Given the description of an element on the screen output the (x, y) to click on. 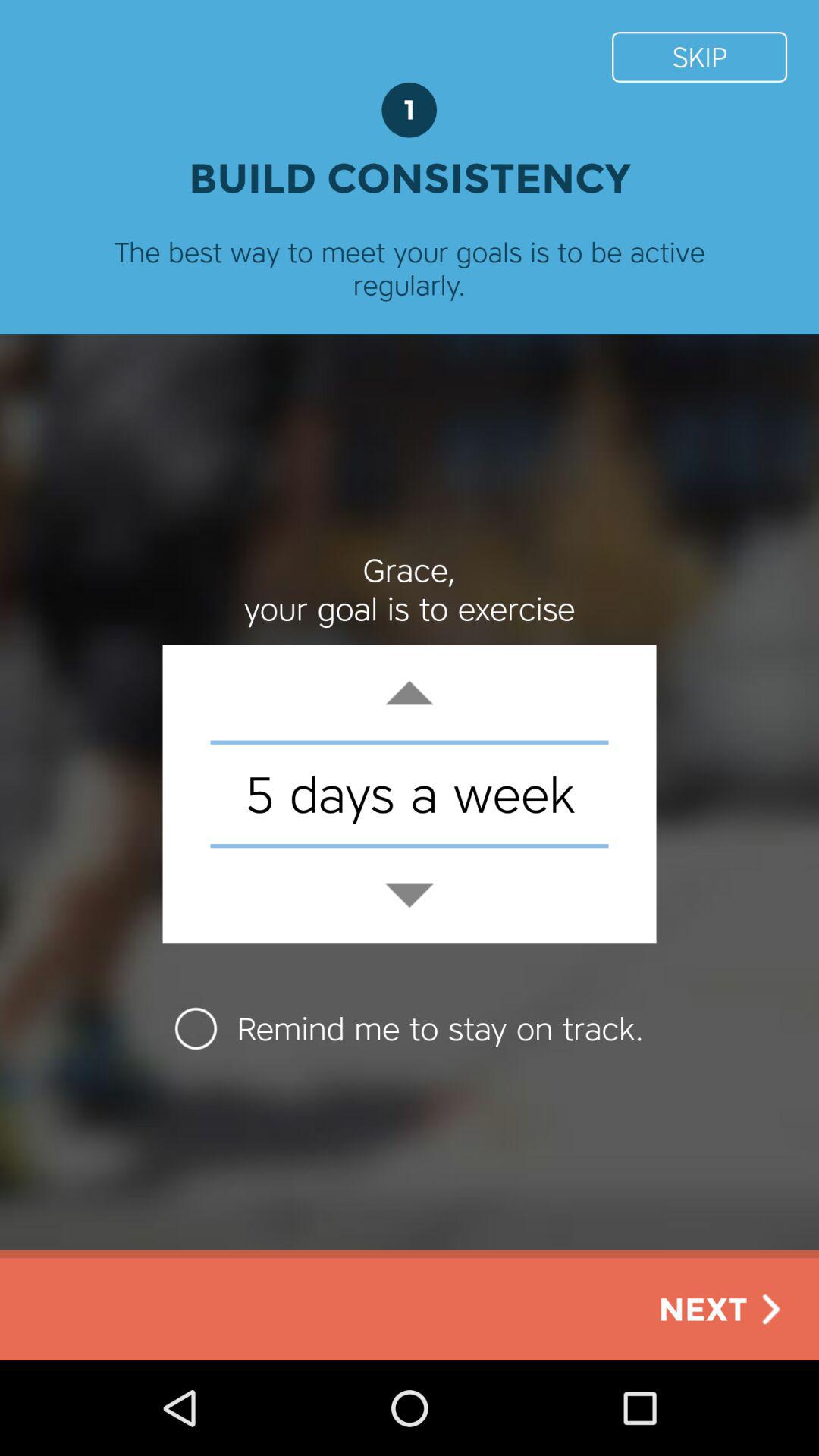
flip until the remind me to (408, 1028)
